Given the description of an element on the screen output the (x, y) to click on. 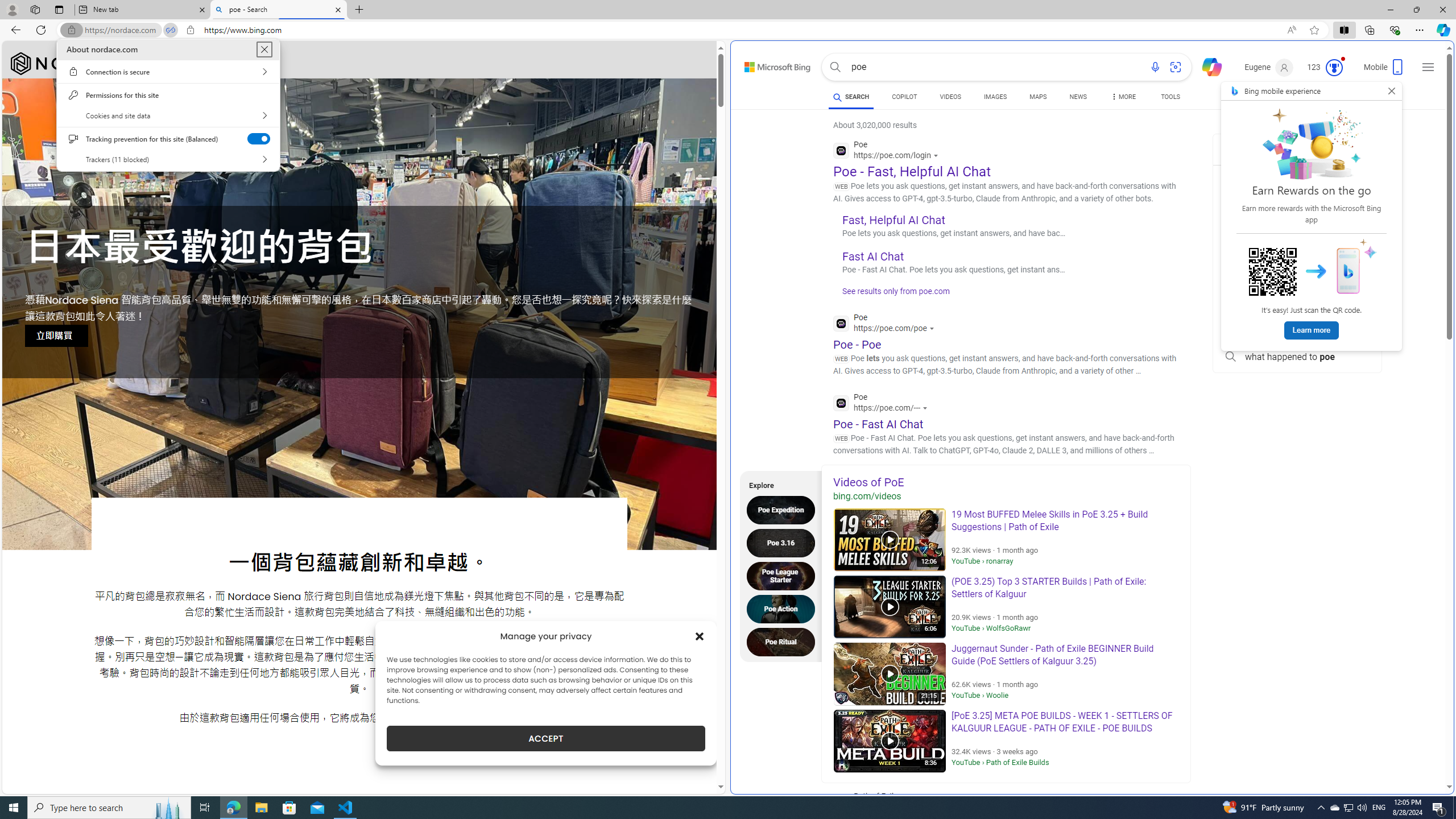
TOOLS (1171, 96)
Skip to content (764, 63)
poe pc (1297, 280)
COPILOT (903, 98)
File Explorer (261, 807)
Poe (882, 403)
Global web icon (841, 402)
Tray Input Indicator - English (United States) (1378, 807)
Fast, Helpful AI Chat (893, 219)
IMAGES (995, 96)
VIDEOS (950, 96)
